Given the description of an element on the screen output the (x, y) to click on. 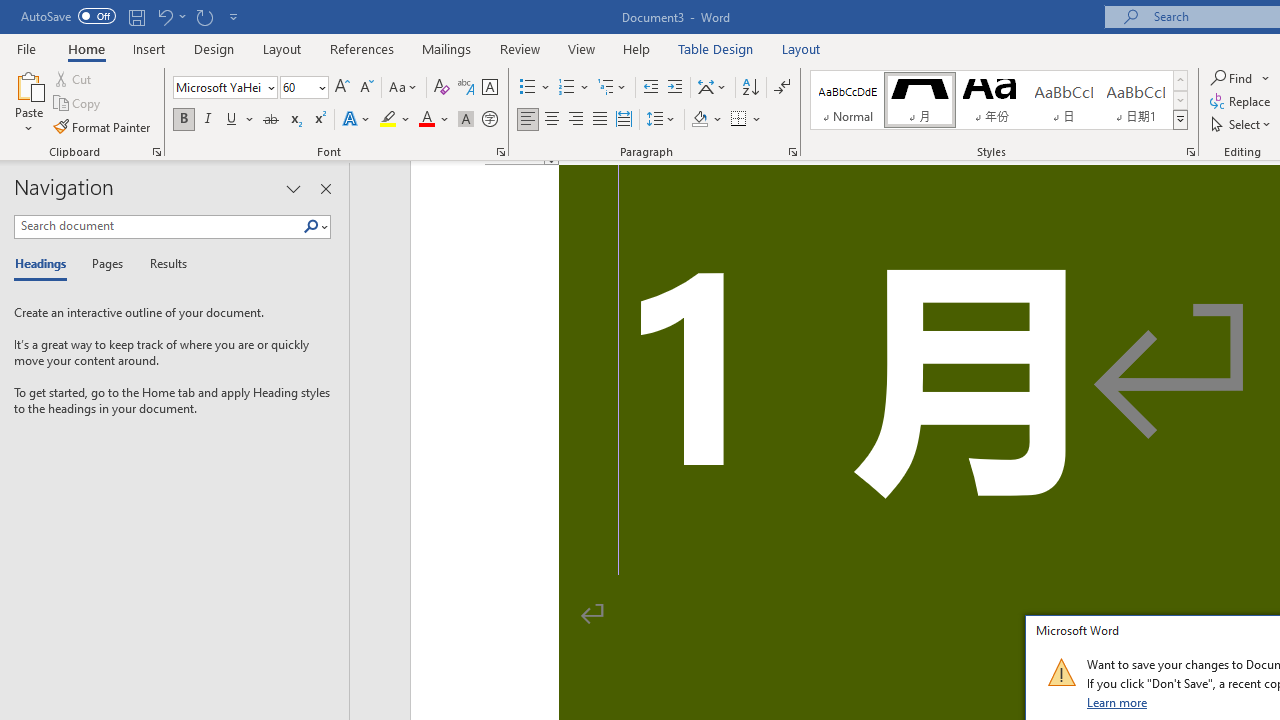
Enclose Characters... (489, 119)
Styles... (1190, 151)
Shading (706, 119)
Asian Layout (712, 87)
Phonetic Guide... (465, 87)
Text Highlight Color (395, 119)
Row Down (1179, 100)
